Given the description of an element on the screen output the (x, y) to click on. 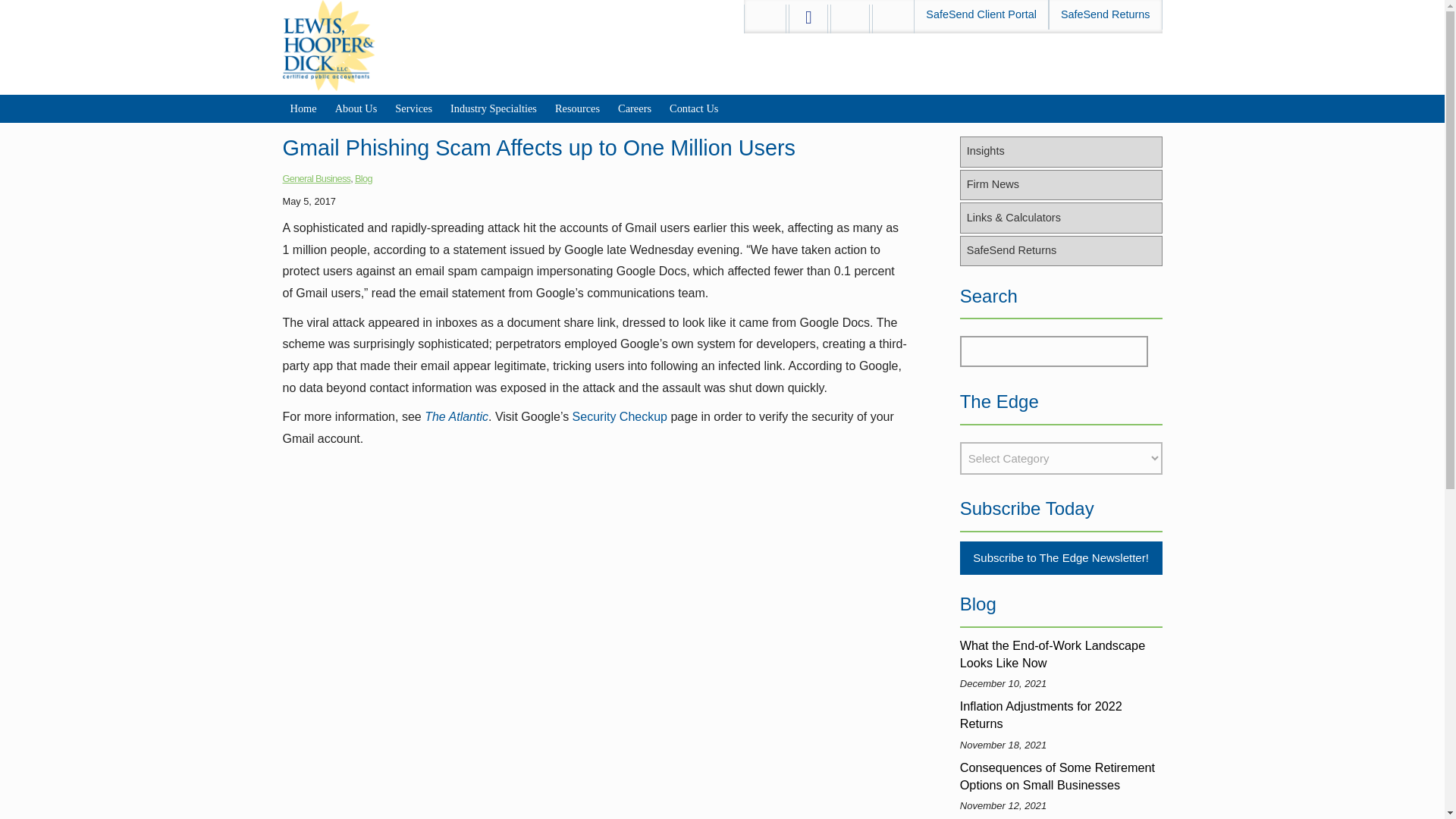
SafeSend Returns (1104, 14)
About Us (356, 108)
SafeSend Client Portal (981, 14)
Home (302, 108)
Search (1053, 350)
Services (413, 108)
lhd-logo (328, 45)
